Given the description of an element on the screen output the (x, y) to click on. 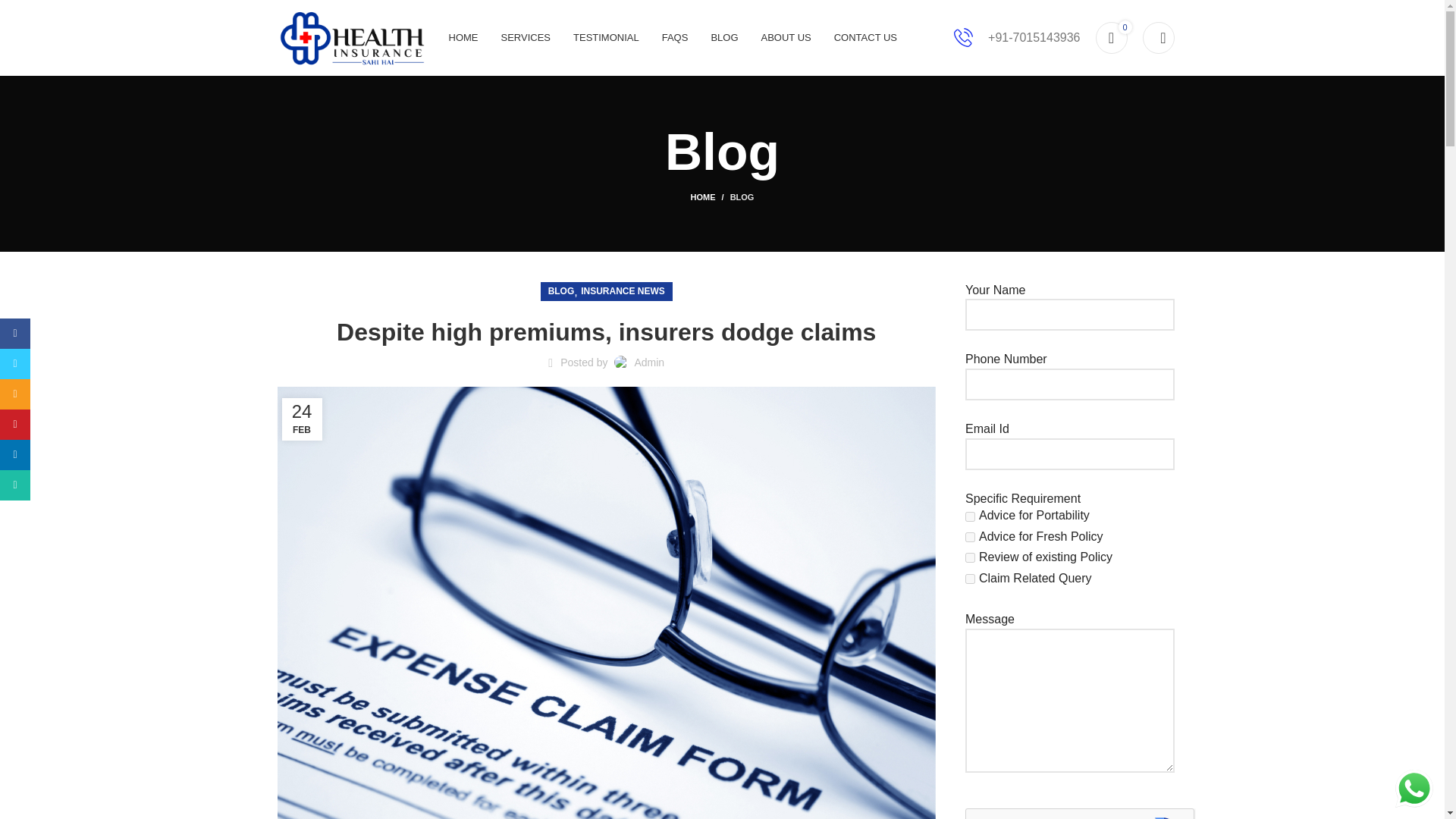
Advice for Fresh Policy (970, 537)
CONTACT US (865, 37)
SERVICES (525, 37)
Claim Related Query (970, 578)
Admin (648, 362)
reCAPTCHA (1080, 813)
TESTIMONIAL (606, 37)
0 (1110, 37)
HOME (710, 196)
BLOG (742, 196)
BLOG (724, 37)
ABOUT US (785, 37)
Advice for Portability (970, 516)
Search (1157, 37)
Shopping cart (1110, 37)
